Given the description of an element on the screen output the (x, y) to click on. 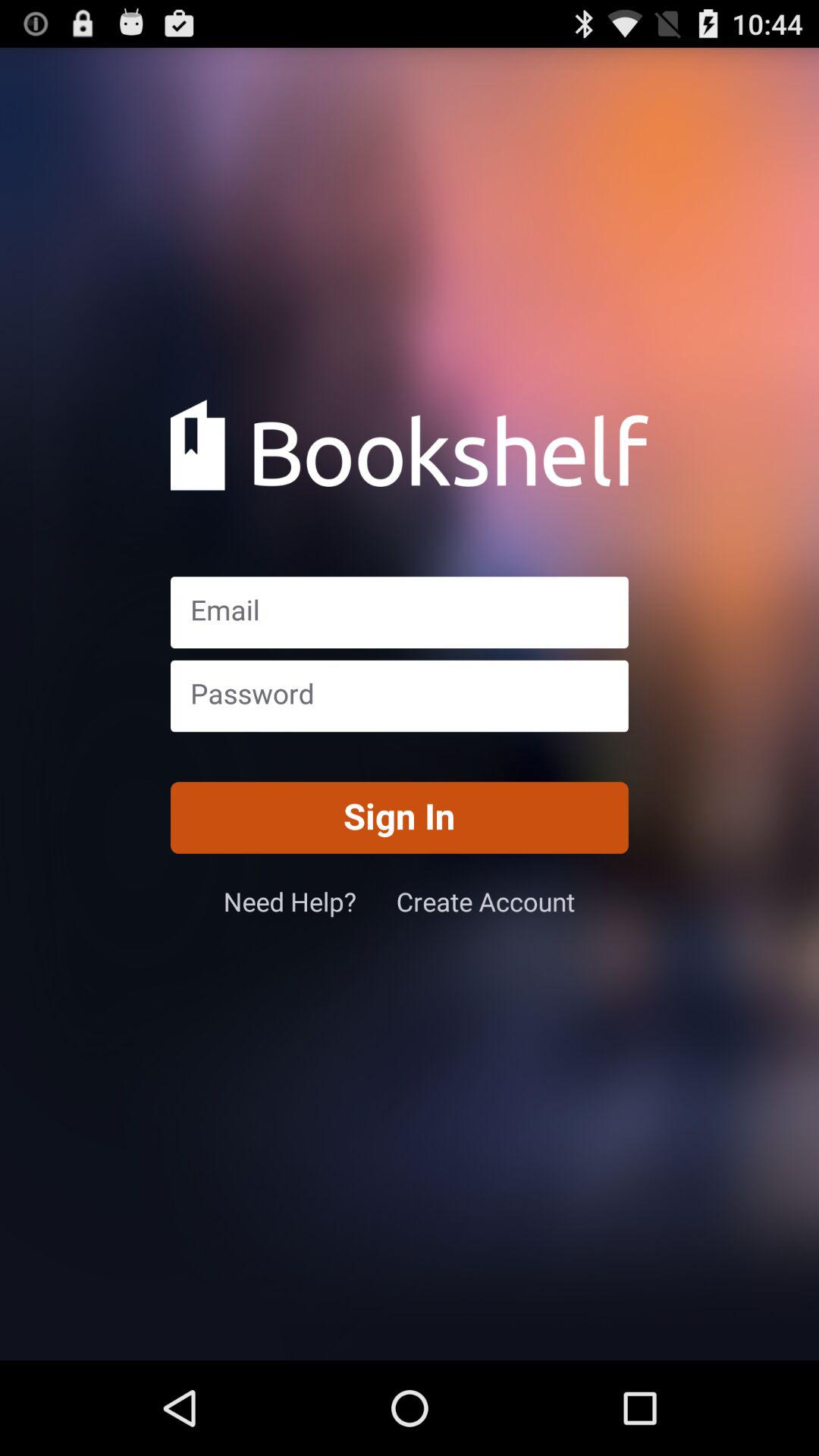
press button below the sign in button (485, 901)
